Given the description of an element on the screen output the (x, y) to click on. 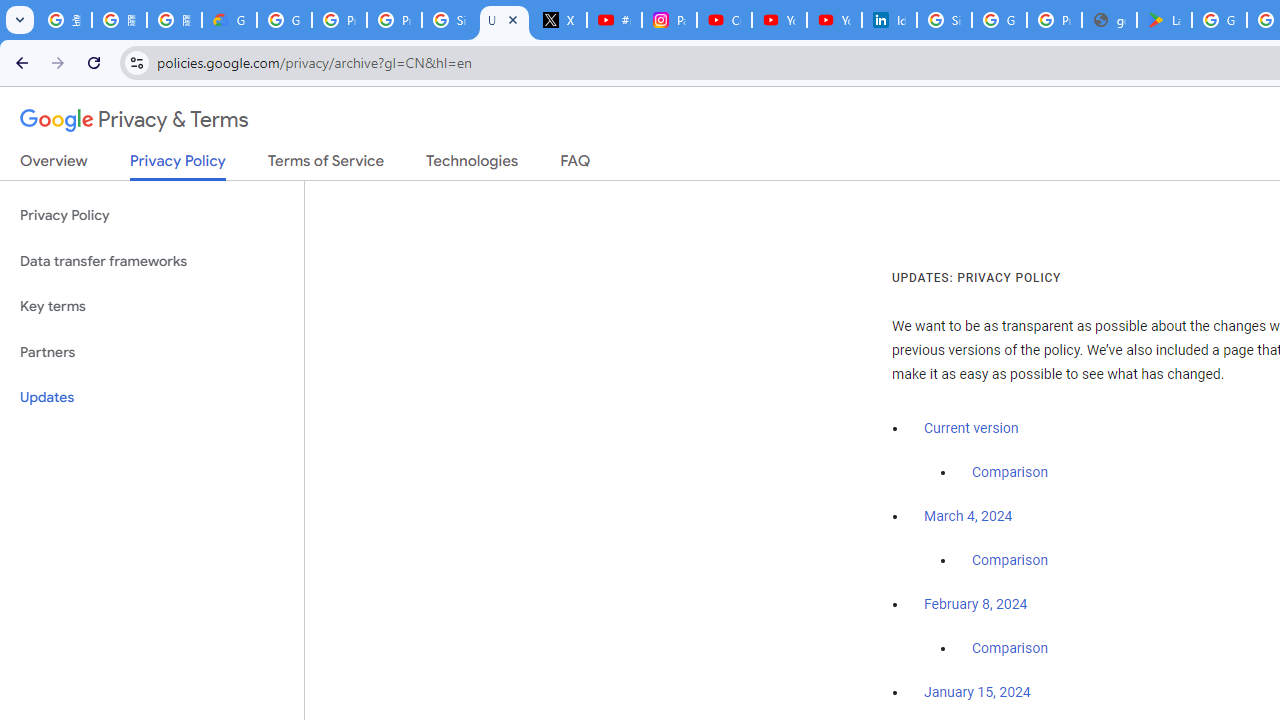
Technologies (472, 165)
March 4, 2024 (968, 517)
Key terms (152, 306)
Terms of Service (326, 165)
google_privacy_policy_en.pdf (1108, 20)
X (559, 20)
Partners (152, 352)
Privacy & Terms (134, 120)
Data transfer frameworks (152, 261)
